Given the description of an element on the screen output the (x, y) to click on. 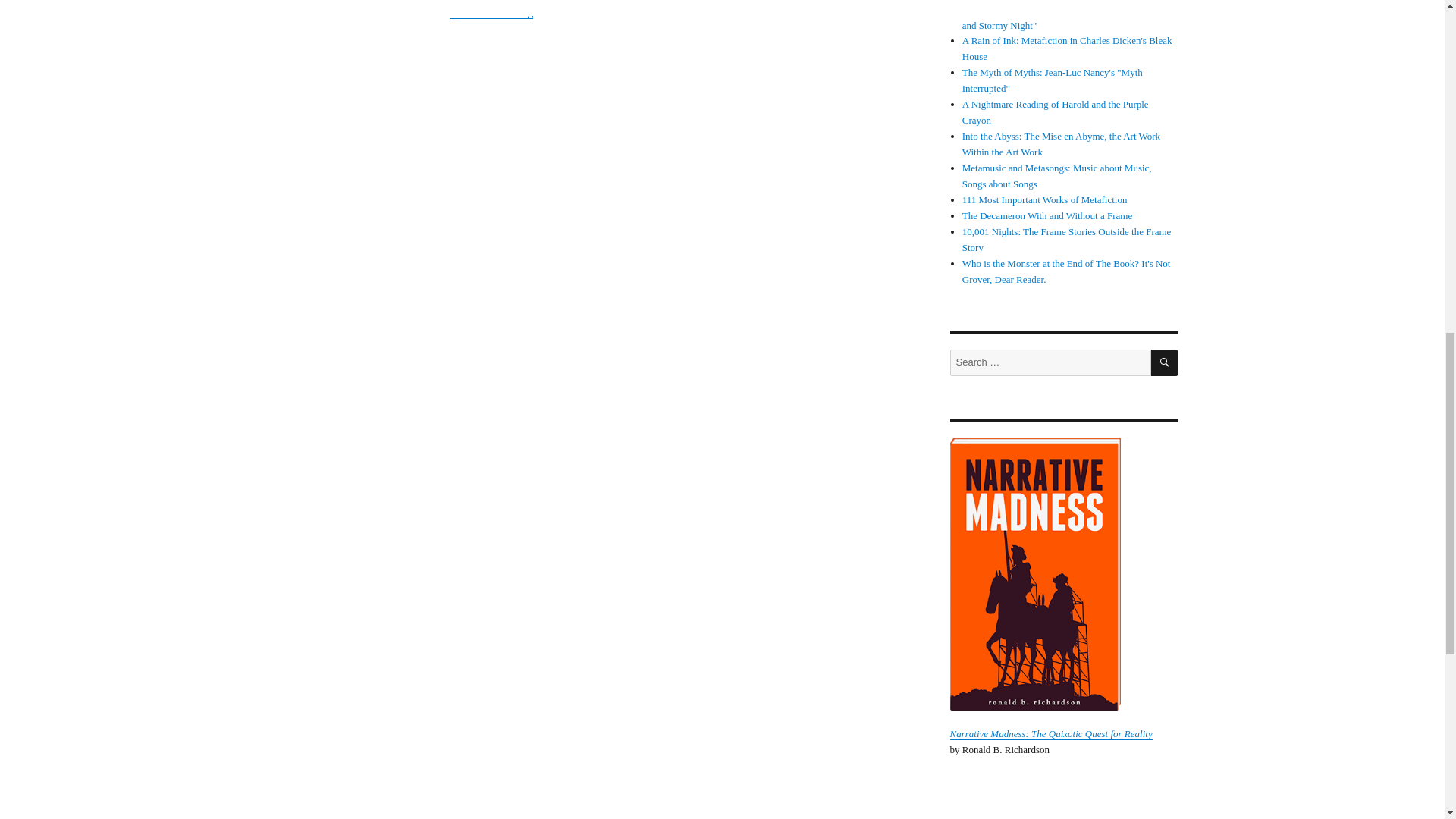
A Rain of Ink: Metafiction in Charles Dicken's Bleak House (1067, 48)
SEARCH (1164, 362)
The Decameron With and Without a Frame (1047, 215)
10,001 Nights: The Frame Stories Outside the Frame Story (1067, 239)
The Myth of Myths: Jean-Luc Nancy's "Myth Interrupted" (1052, 80)
A Nightmare Reading of Harold and the Purple Crayon (1055, 112)
Narrative Madness: The Quixotic Quest for Reality (1050, 733)
111 Most Important Works of Metafiction (1044, 199)
